Given the description of an element on the screen output the (x, y) to click on. 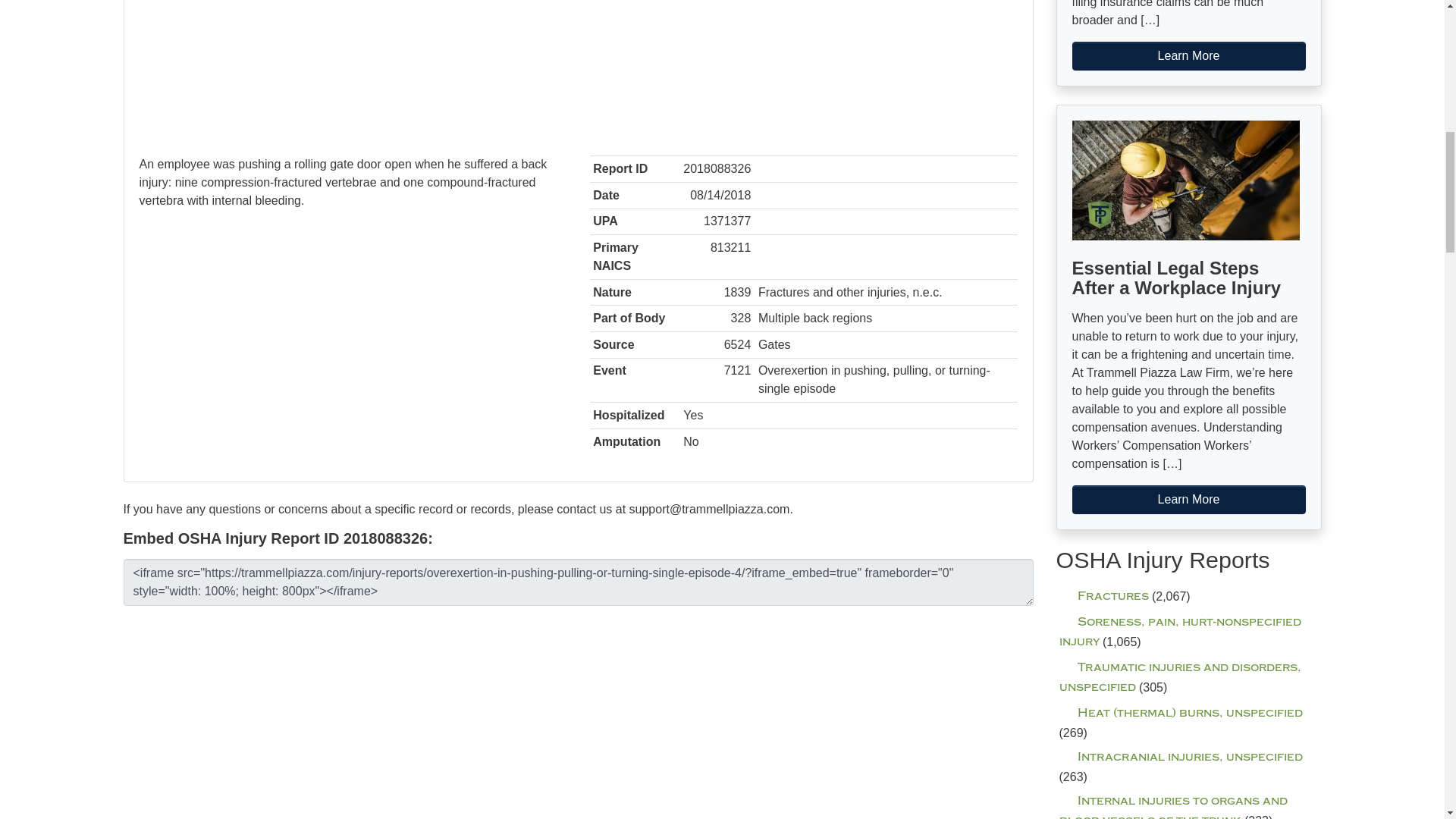
Learn More (1188, 499)
Traumatic injuries and disorders, unspecified (1179, 677)
Fractures (1103, 595)
Soreness, pain, hurt-nonspecified injury (1179, 632)
Learn More (1188, 55)
Internal injuries to organs and blood vessels of the trunk (1172, 806)
Intracranial injuries, unspecified (1179, 757)
